Given the description of an element on the screen output the (x, y) to click on. 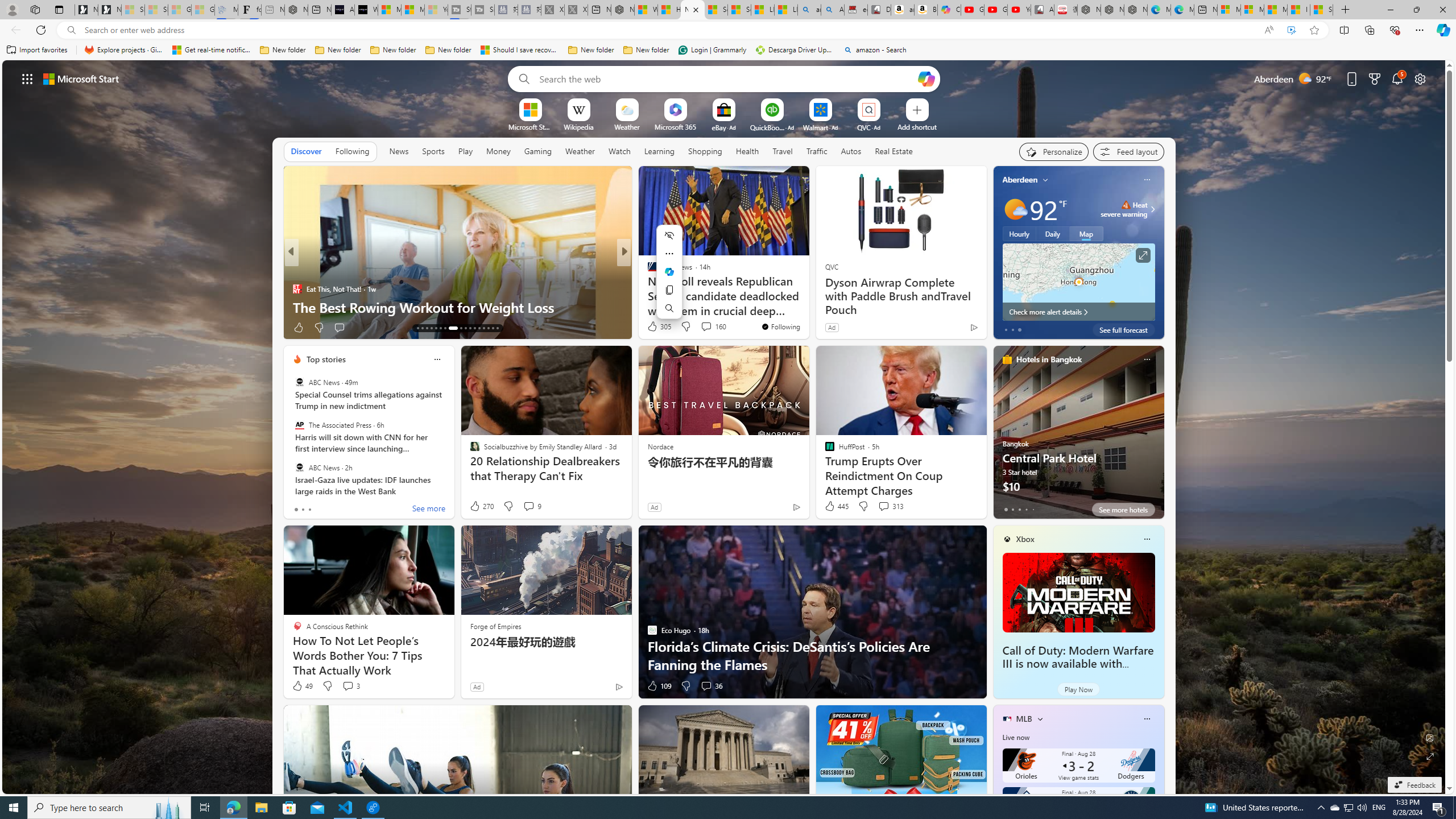
Microsoft Start Sports (529, 126)
tab-0 (1005, 509)
Mini menu on text selection (669, 278)
Address and search bar (669, 29)
Copilot (Ctrl+Shift+.) (1442, 29)
Settings and more (Alt+F) (1419, 29)
3k Like (652, 327)
MLB (1024, 718)
Newsweek (647, 270)
Nordace - My Account (622, 9)
amazon - Search (875, 49)
Minimize (1390, 9)
Following (352, 151)
View comments 26 Comment (349, 327)
